Given the description of an element on the screen output the (x, y) to click on. 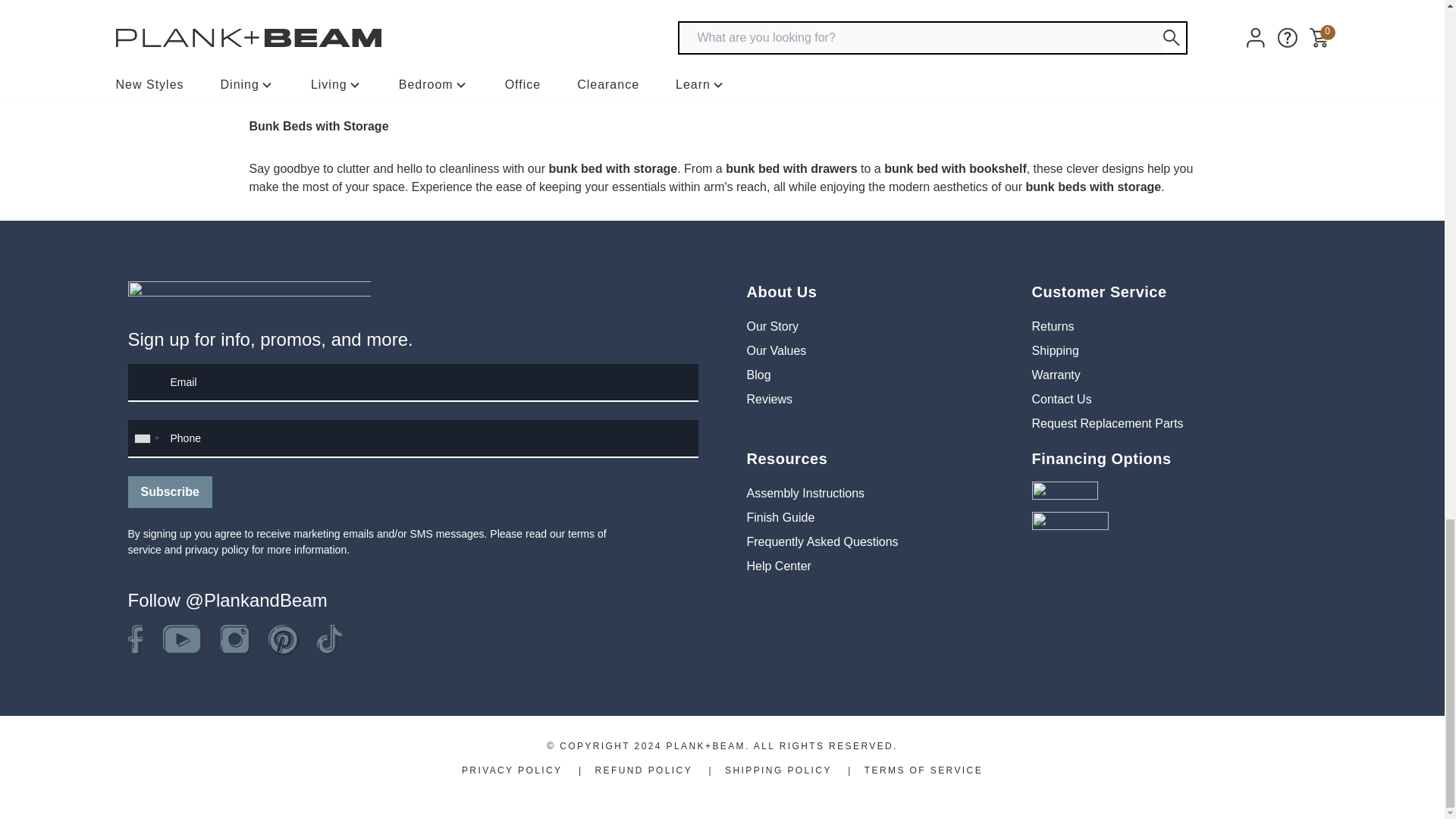
terms of service (366, 541)
Shipping (1054, 350)
Our Values (775, 350)
Our Story (771, 326)
Youtube (181, 639)
Contact Us (1060, 399)
Request Replacement Parts (1106, 422)
Pinterest (282, 639)
Tiktok (330, 639)
Instagram (233, 639)
